Given the description of an element on the screen output the (x, y) to click on. 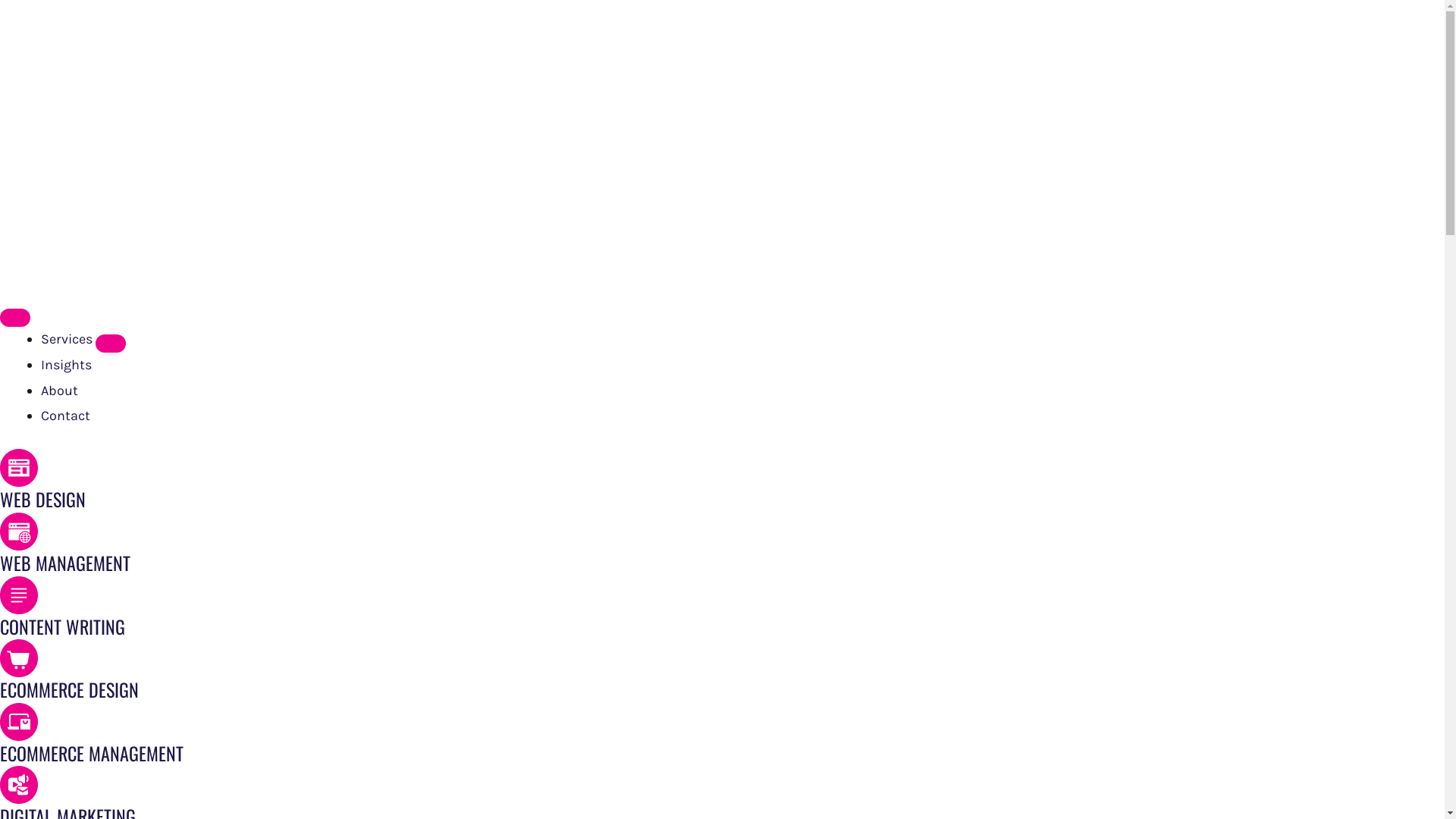
Insights Element type: text (65, 364)
Services Element type: text (67, 338)
Contact Element type: text (65, 415)
CONTENT WRITING Element type: text (62, 626)
About Element type: text (59, 390)
WEB DESIGN Element type: text (42, 498)
ECOMMERCE DESIGN Element type: text (69, 688)
ECOMMERCE MANAGEMENT Element type: text (91, 752)
WEB MANAGEMENT Element type: text (65, 562)
